Given the description of an element on the screen output the (x, y) to click on. 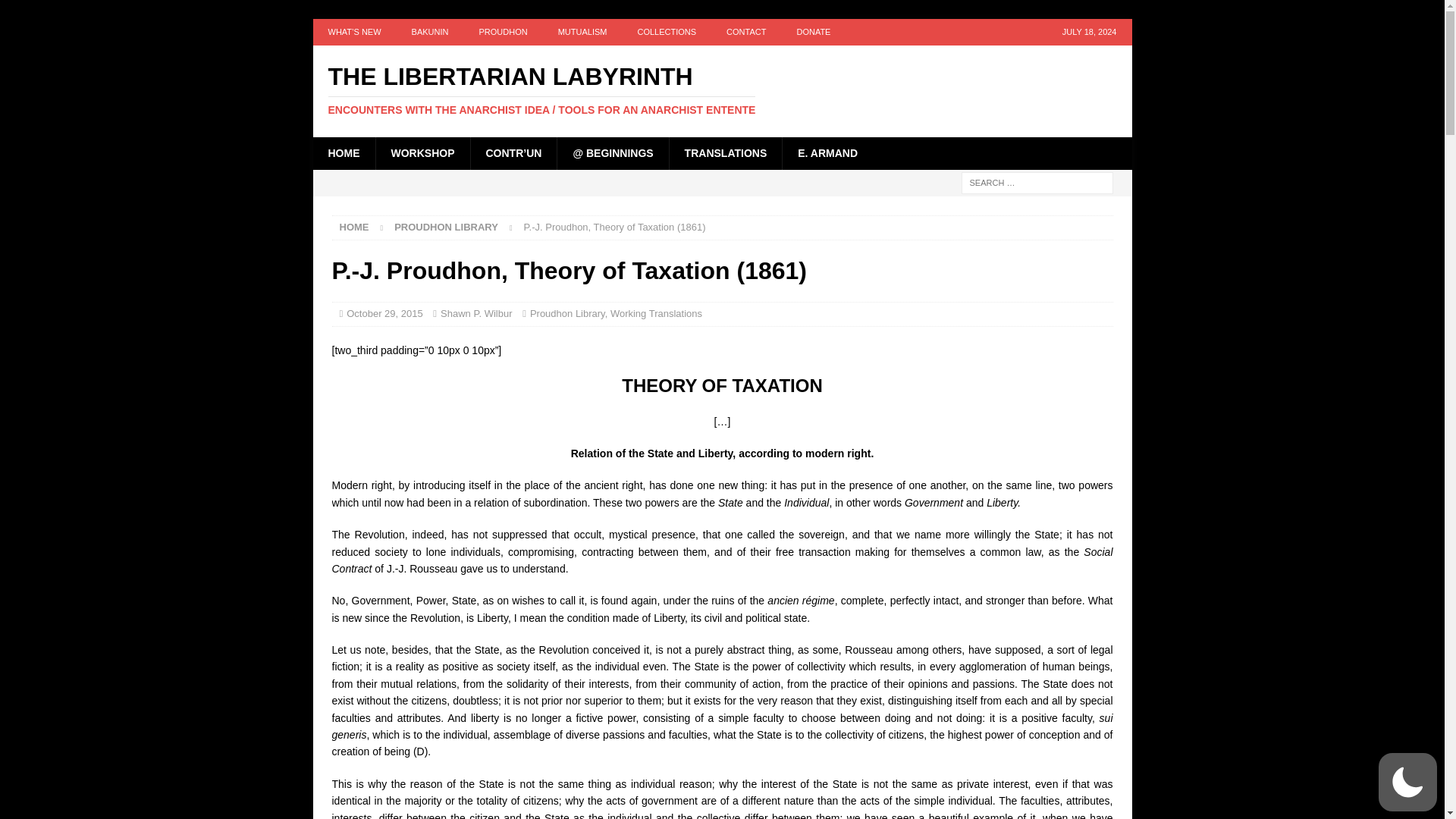
Working Translations (655, 313)
CONTACT (745, 31)
BAKUNIN (430, 31)
WORKSHOP (421, 152)
MUTUALISM (583, 31)
Search (56, 11)
PROUDHON (502, 31)
HOME (343, 152)
COLLECTIONS (666, 31)
October 29, 2015 (384, 313)
The Libertarian Labyrinth (721, 90)
Home (354, 226)
E. ARMAND (826, 152)
Proudhon Library (445, 226)
DONATE (812, 31)
